Given the description of an element on the screen output the (x, y) to click on. 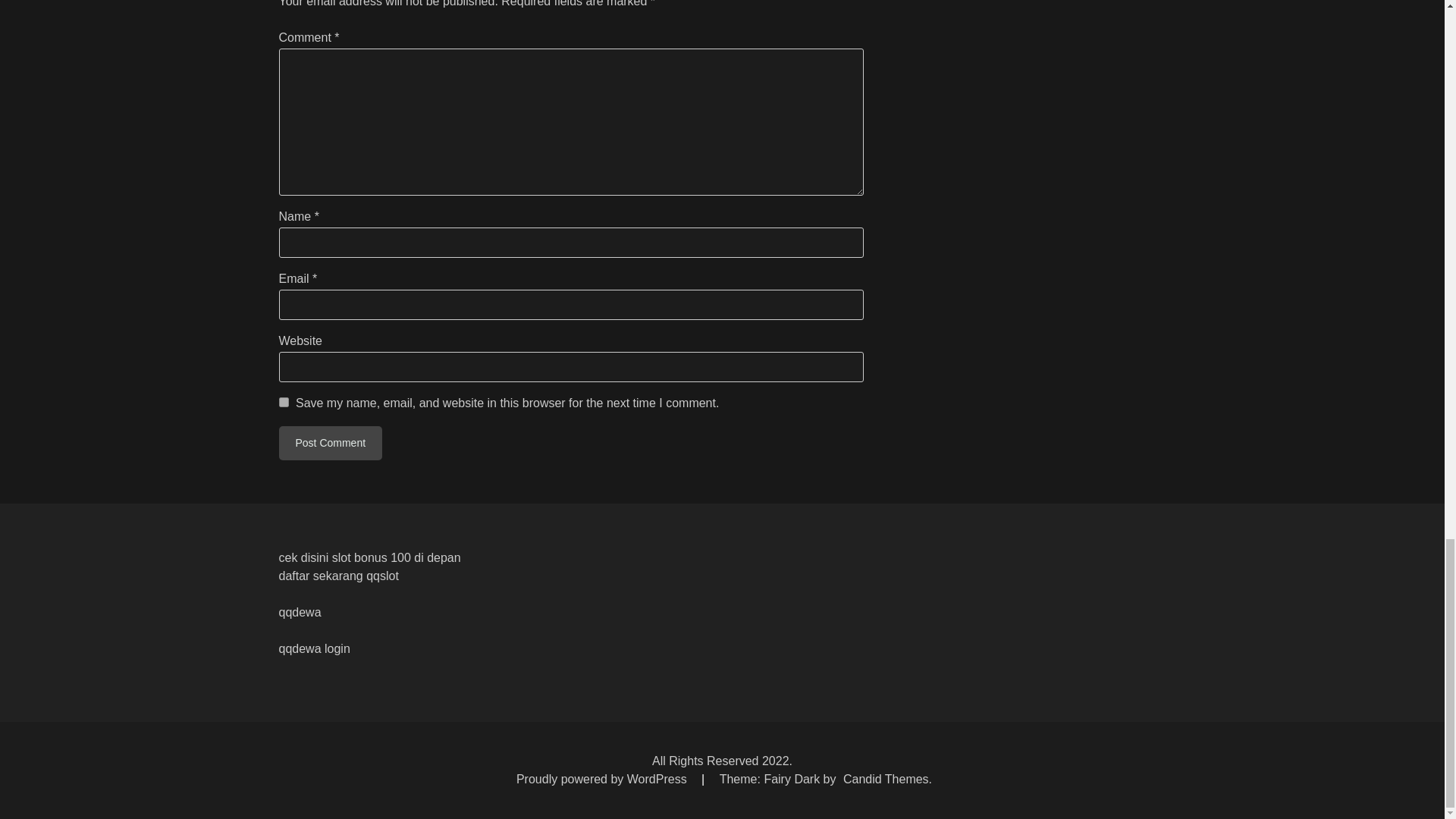
Post Comment (330, 442)
Post Comment (330, 442)
slot bonus 100 di depan (396, 557)
yes (283, 402)
